Given the description of an element on the screen output the (x, y) to click on. 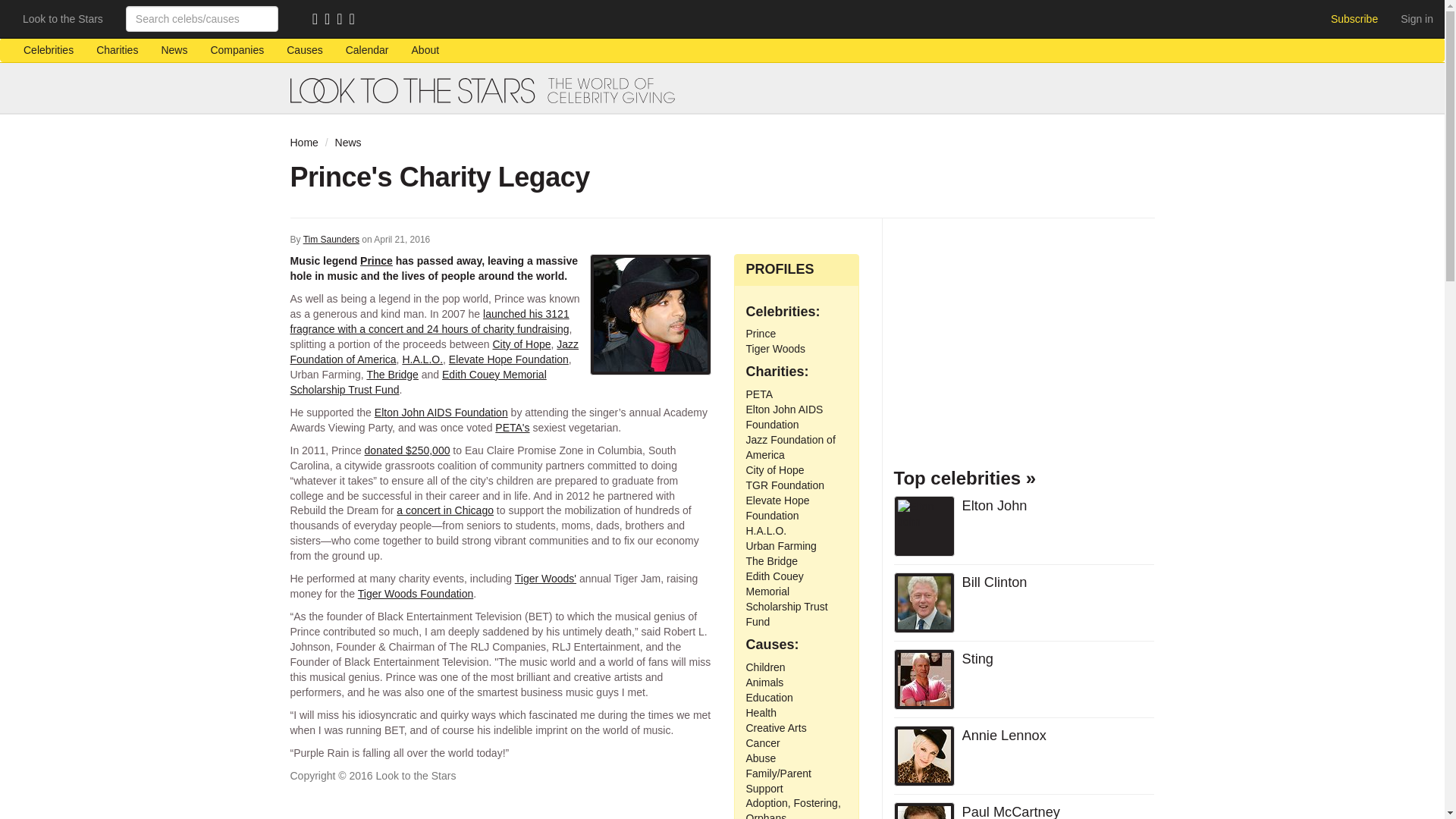
Prince (376, 260)
Calendar (367, 49)
About (425, 49)
Edith Couey Memorial Scholarship Trust Fund (417, 381)
News about celebrities doing good (173, 49)
News (347, 142)
Companies (236, 49)
RSS feed (318, 20)
Charitable areas of interest (304, 49)
Subscribe to our feed (318, 20)
